Given the description of an element on the screen output the (x, y) to click on. 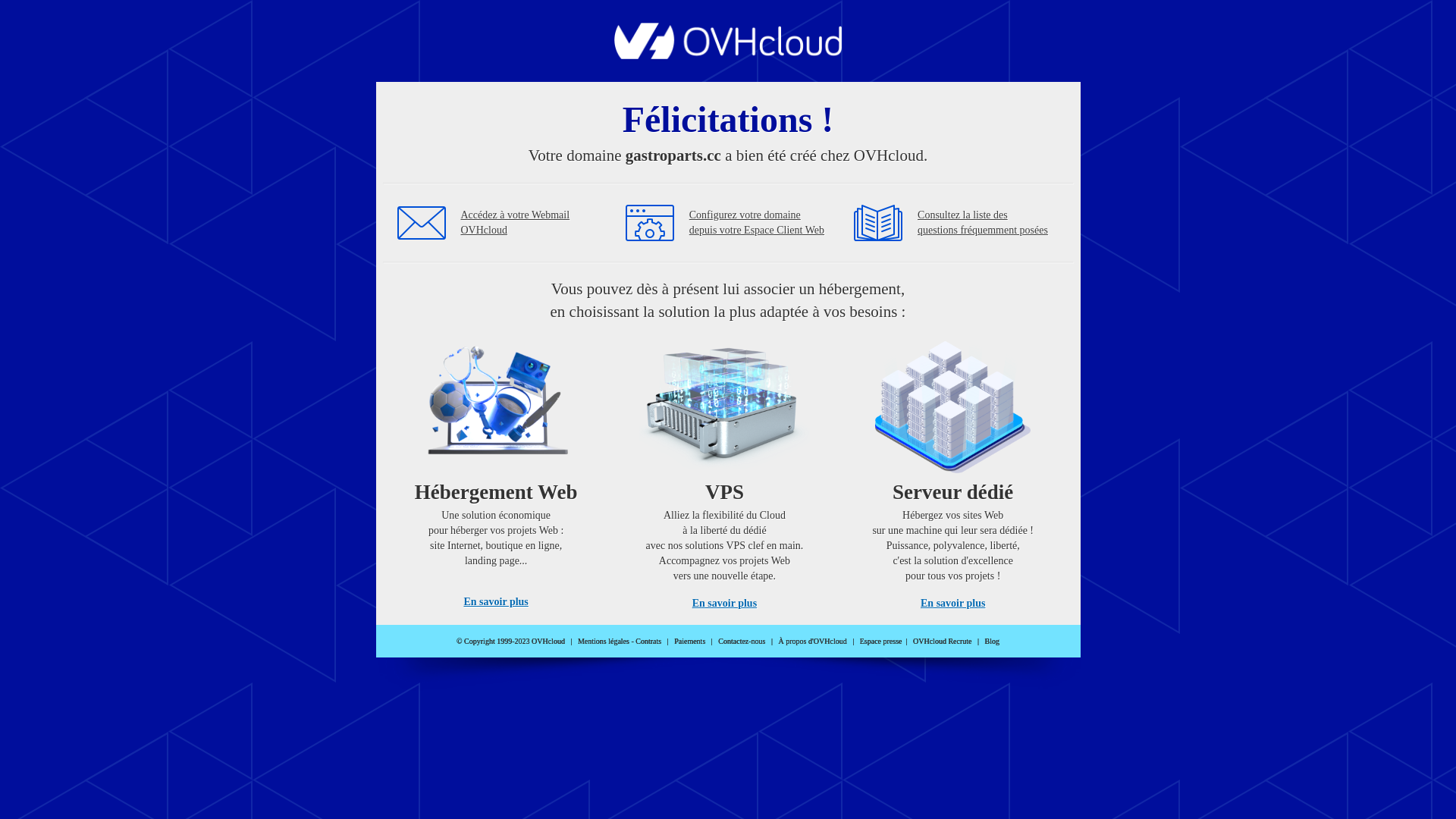
En savoir plus Element type: text (495, 601)
En savoir plus Element type: text (952, 602)
Contactez-nous Element type: text (741, 641)
OVHcloud Recrute Element type: text (942, 641)
Espace presse Element type: text (880, 641)
VPS Element type: hover (724, 469)
Paiements Element type: text (689, 641)
Blog Element type: text (992, 641)
Configurez votre domaine
depuis votre Espace Client Web Element type: text (756, 222)
En savoir plus Element type: text (724, 602)
OVHcloud Element type: hover (727, 54)
